Given the description of an element on the screen output the (x, y) to click on. 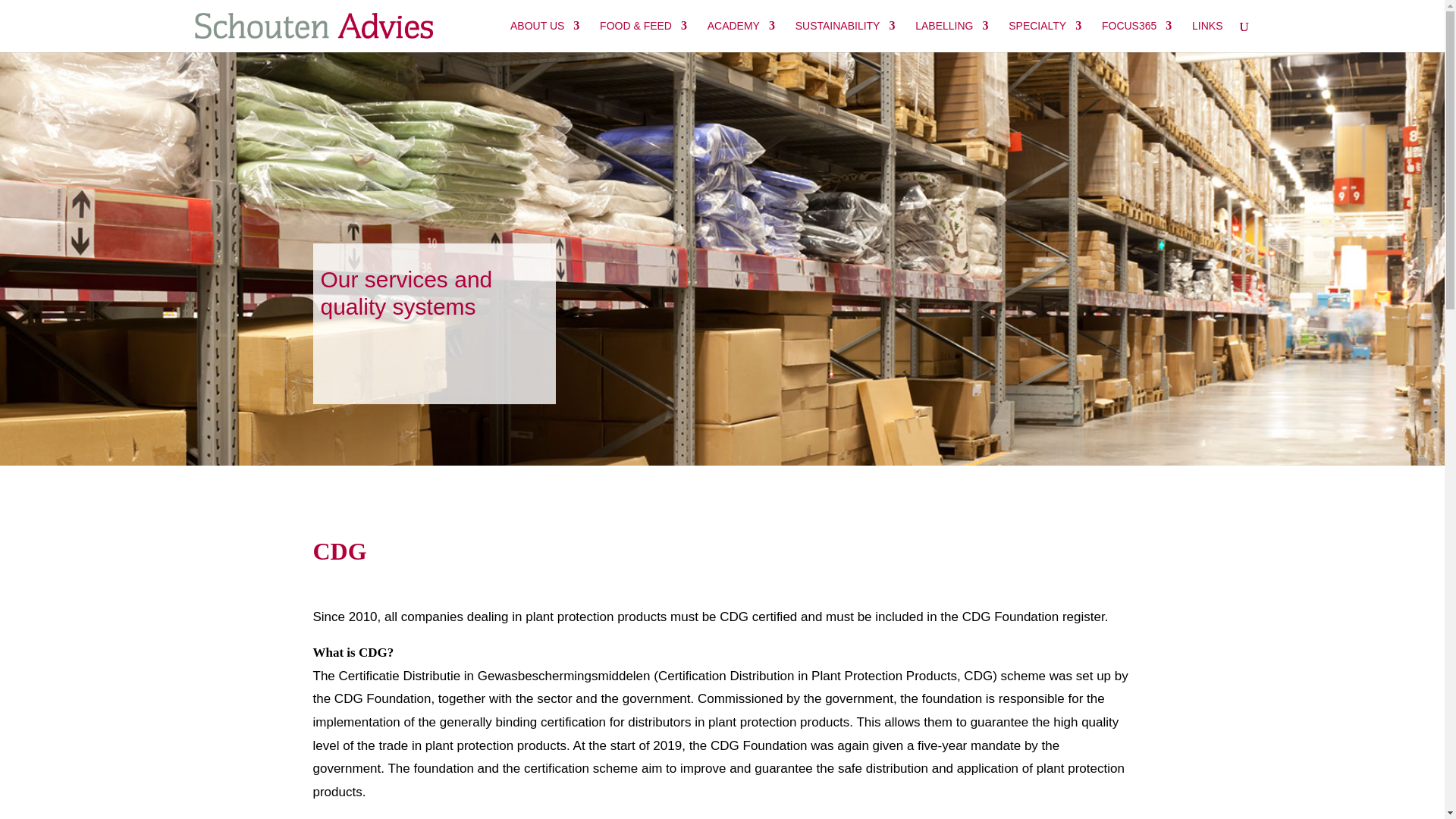
SPECIALTY (1045, 36)
ACADEMY (740, 36)
ABOUT US (545, 36)
LINKS (1207, 36)
FOCUS365 (1137, 36)
LABELLING (951, 36)
SUSTAINABILITY (844, 36)
